Given the description of an element on the screen output the (x, y) to click on. 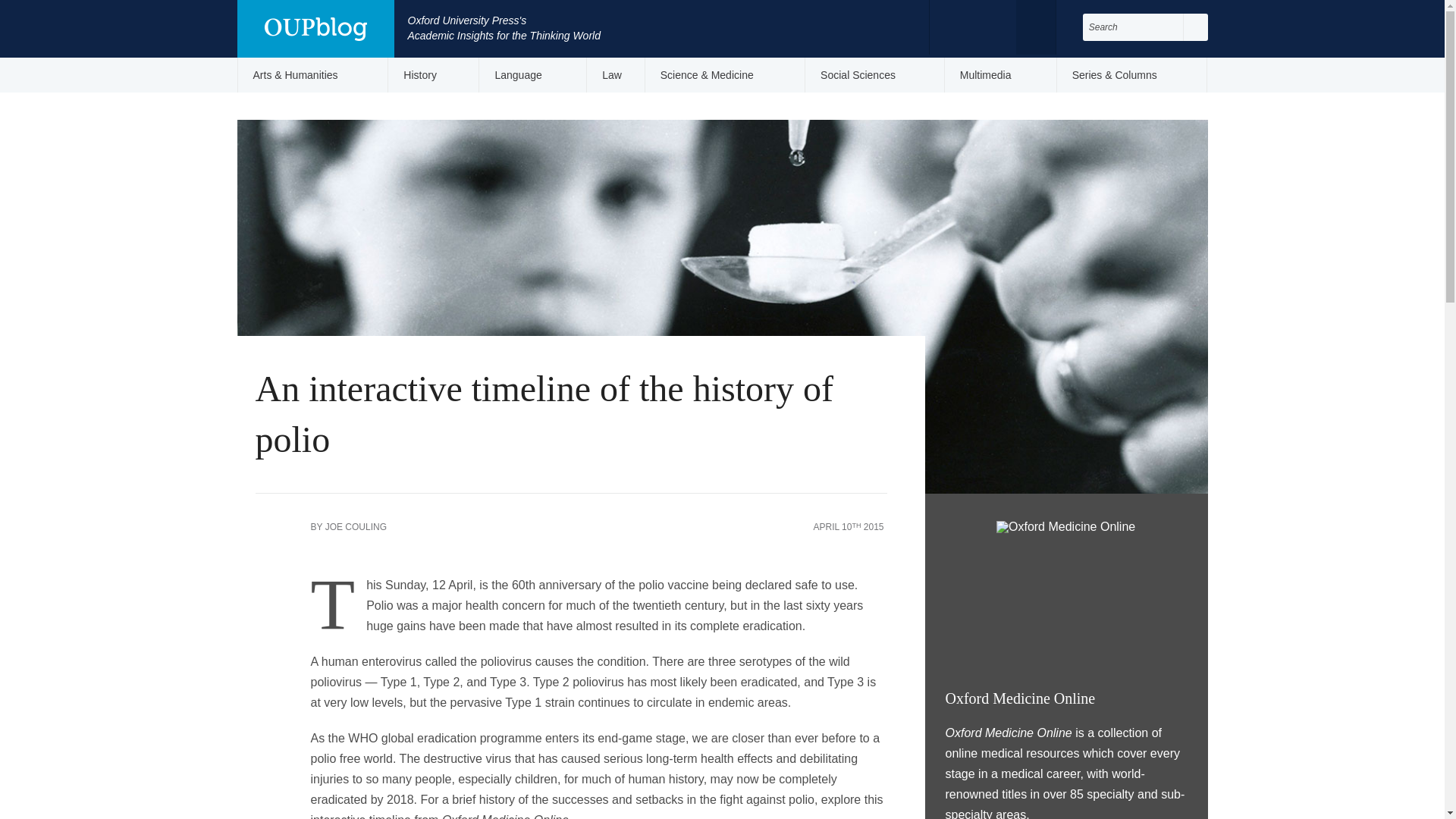
History (433, 74)
Search for: (1132, 26)
Twitter (986, 25)
Search (1195, 26)
Facebook (957, 25)
Language (532, 74)
Law (615, 74)
